Given the description of an element on the screen output the (x, y) to click on. 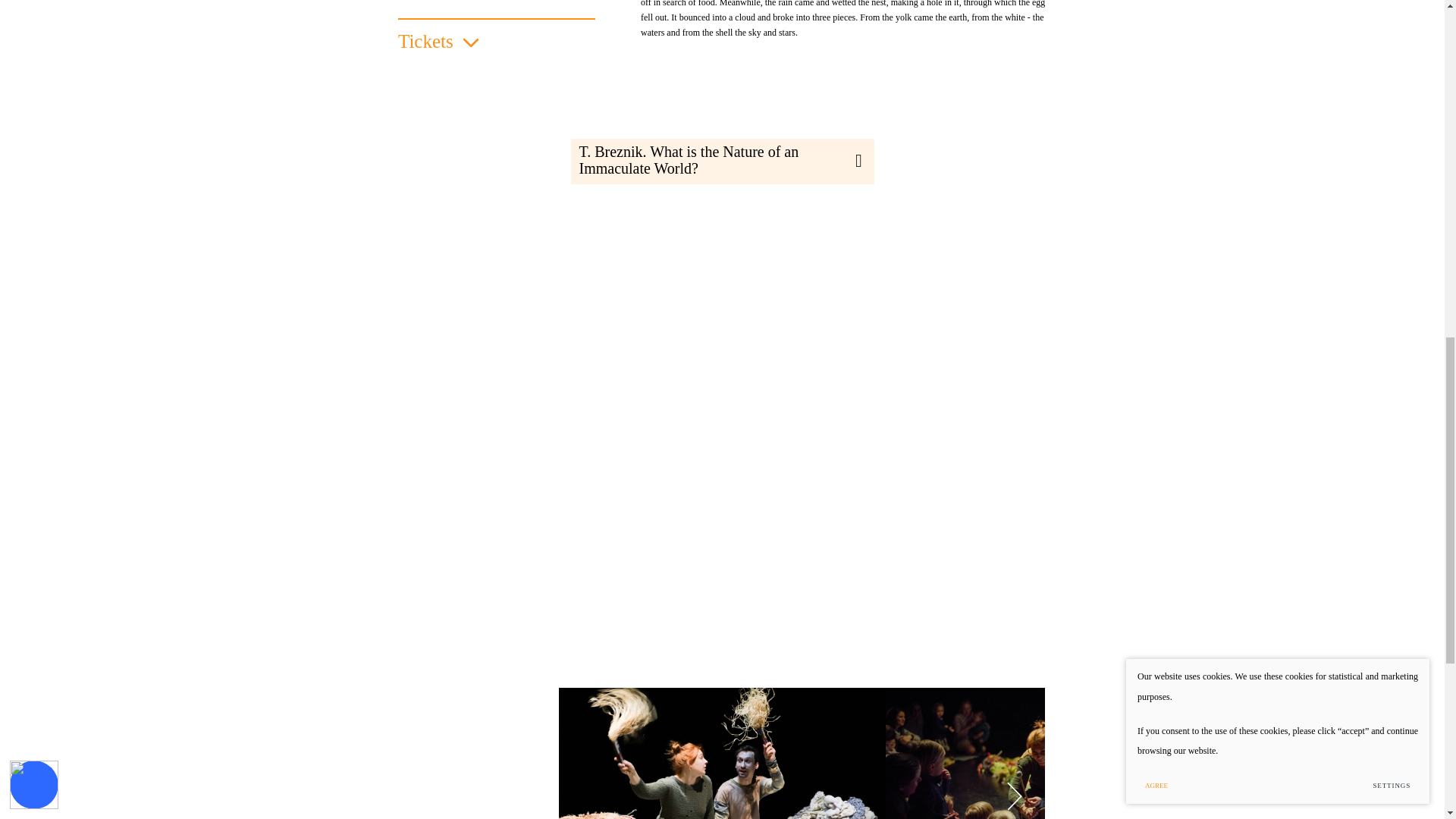
T. Breznik. What is the Nature of an Immaculate World? (721, 161)
